Given the description of an element on the screen output the (x, y) to click on. 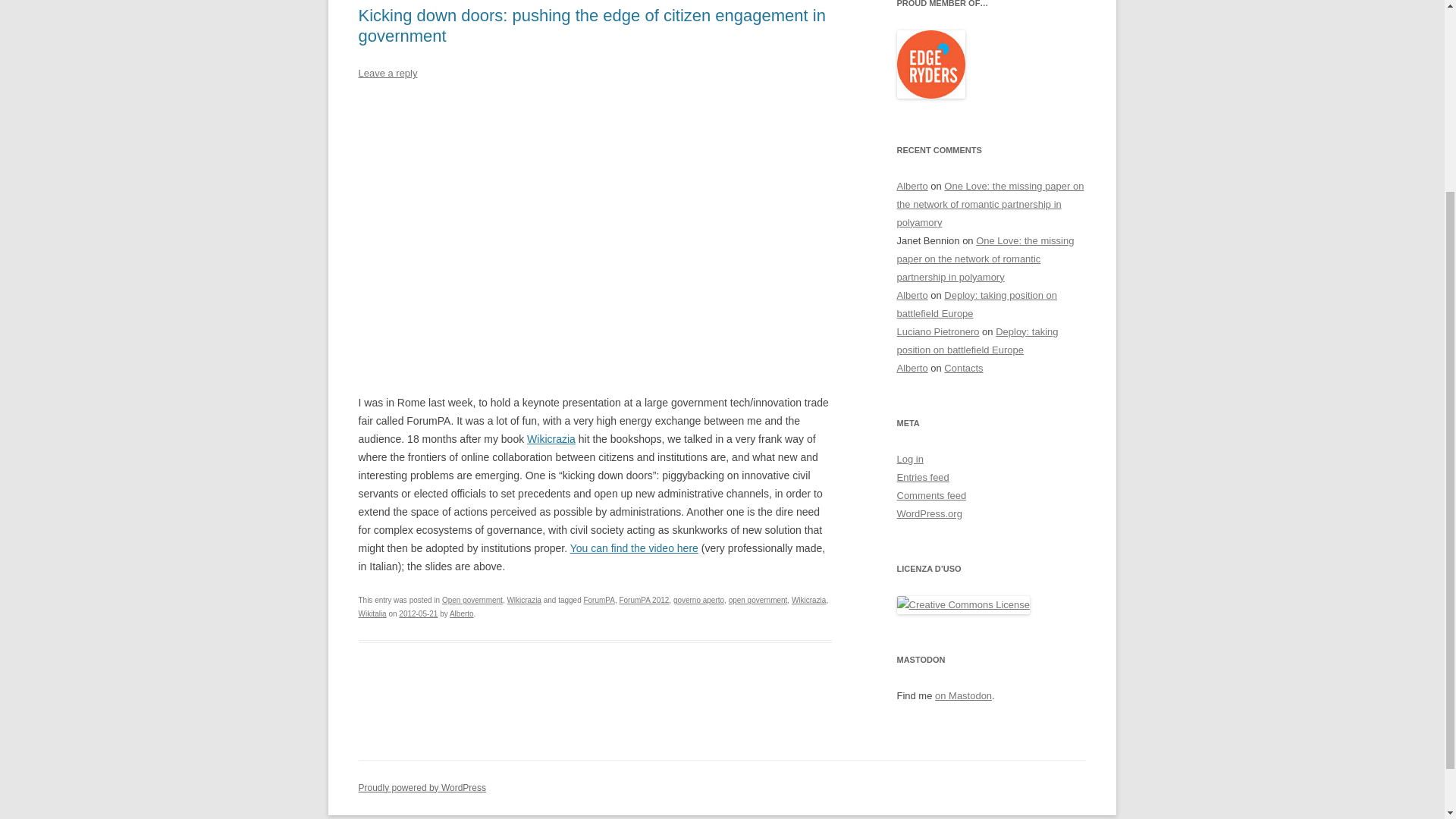
You can find the video here (634, 548)
Wikicrazia (523, 600)
ForumPA (598, 600)
2012-05-21 (418, 613)
governo aperto (697, 600)
Leave a reply (387, 72)
Wikicrazia (809, 600)
Open government (472, 600)
Wikitalia (371, 613)
